Given the description of an element on the screen output the (x, y) to click on. 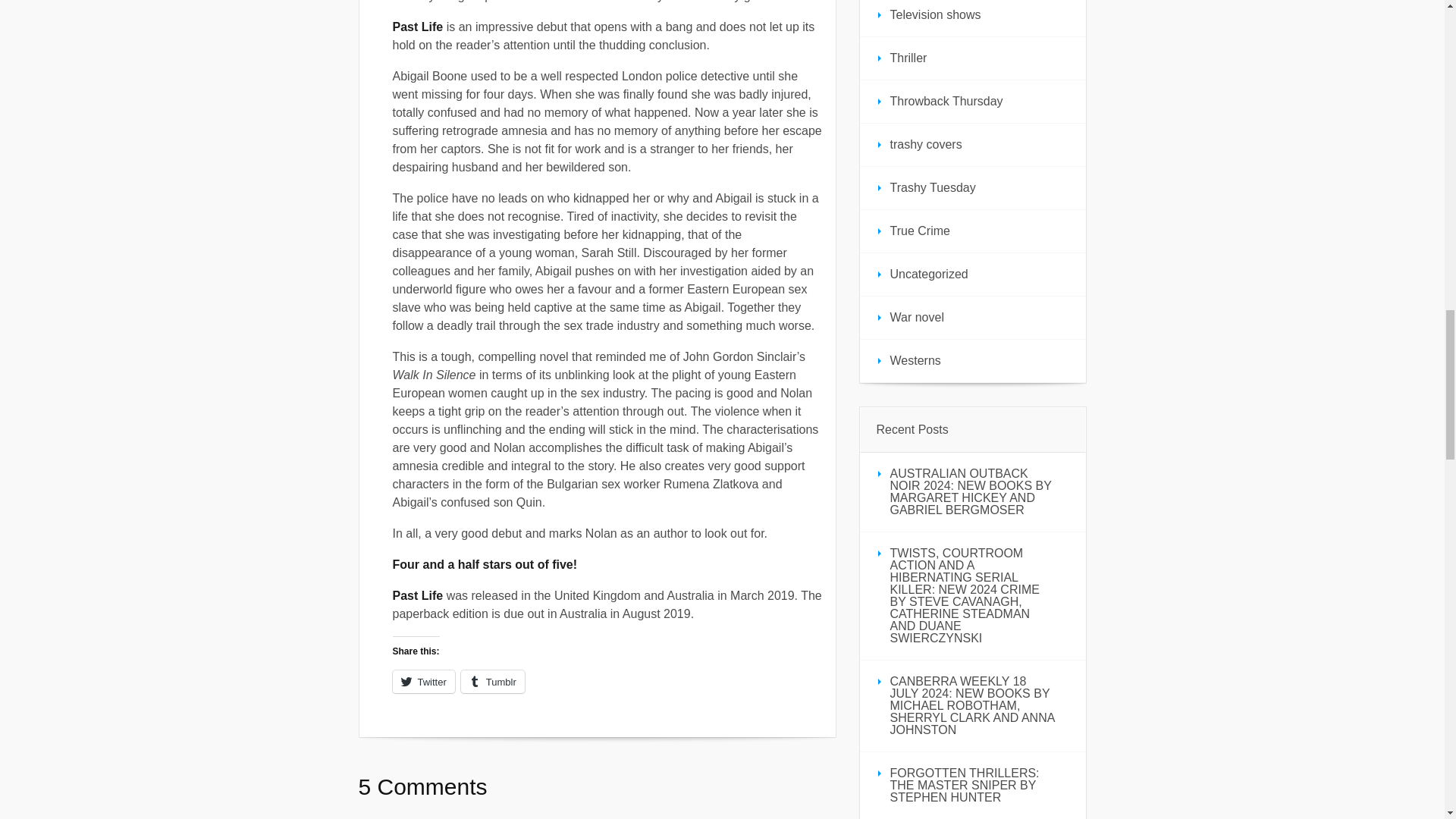
Click to share on Tumblr (492, 681)
Click to share on Twitter (423, 681)
